Given the description of an element on the screen output the (x, y) to click on. 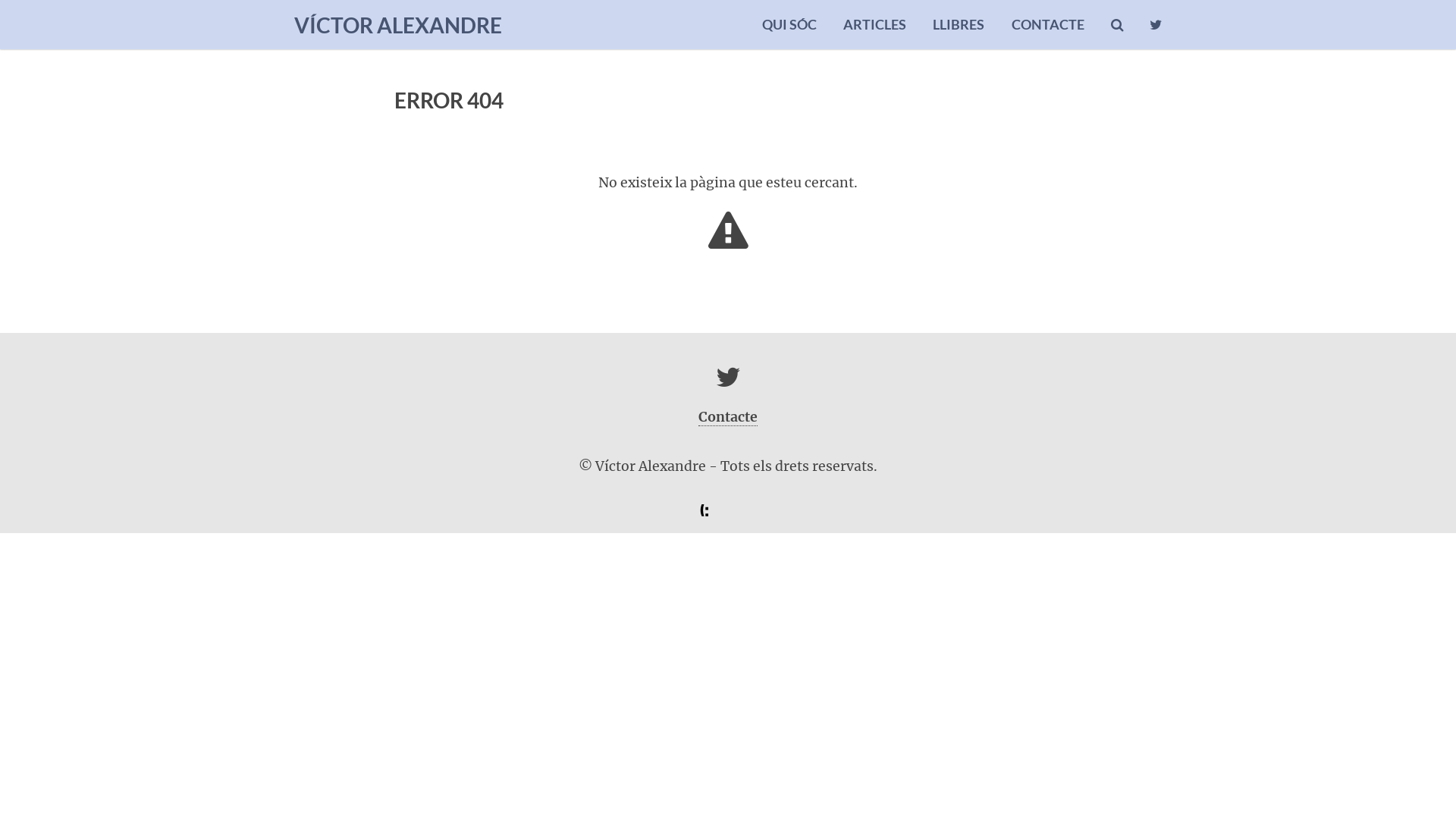
Contacte Element type: text (727, 417)
ARTICLES Element type: text (874, 24)
LLIBRES Element type: text (958, 24)
CONTACTE Element type: text (1047, 24)
Twitter Element type: hover (727, 381)
